Given the description of an element on the screen output the (x, y) to click on. 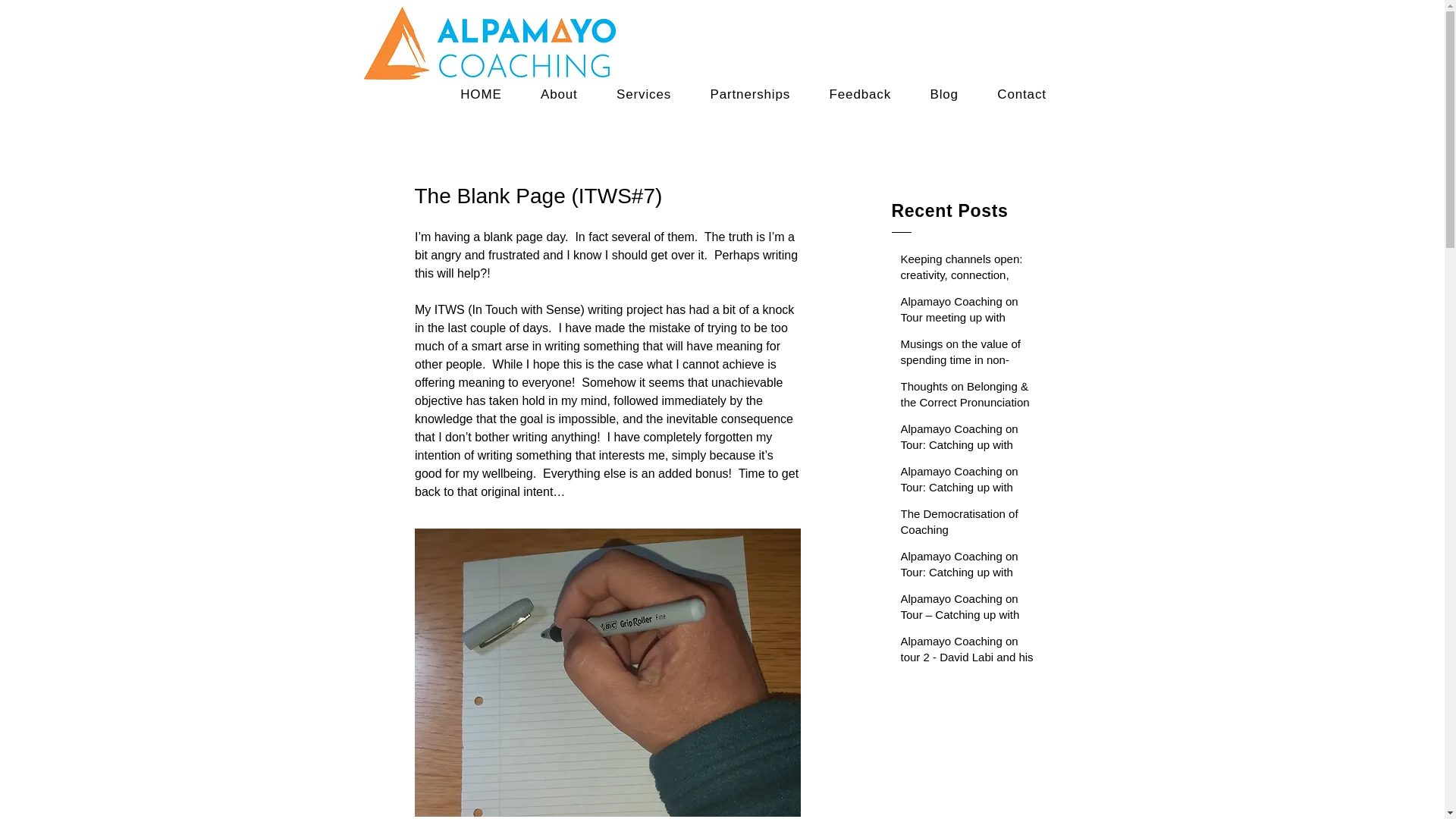
The Democratisation of Coaching (968, 524)
Blog (944, 94)
HOME (481, 94)
Contact (1021, 94)
